Given the description of an element on the screen output the (x, y) to click on. 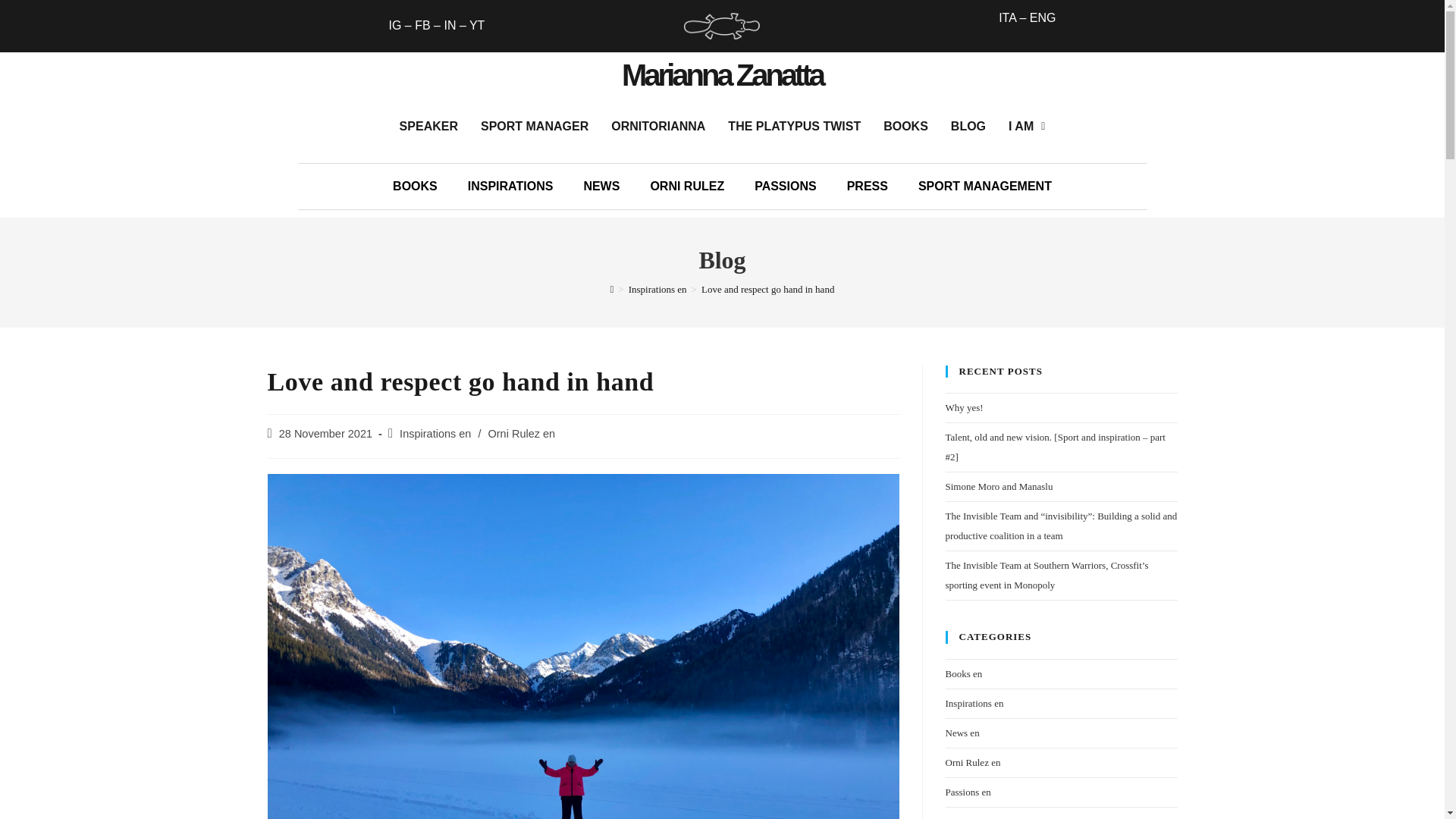
NEWS (600, 186)
IG (394, 24)
Marianna Zanatta (721, 74)
SPEAKER (428, 126)
BOOKS (414, 186)
BOOKS (905, 126)
PRESS (866, 186)
INSPIRATIONS (510, 186)
YT (476, 24)
IN (449, 24)
